Given the description of an element on the screen output the (x, y) to click on. 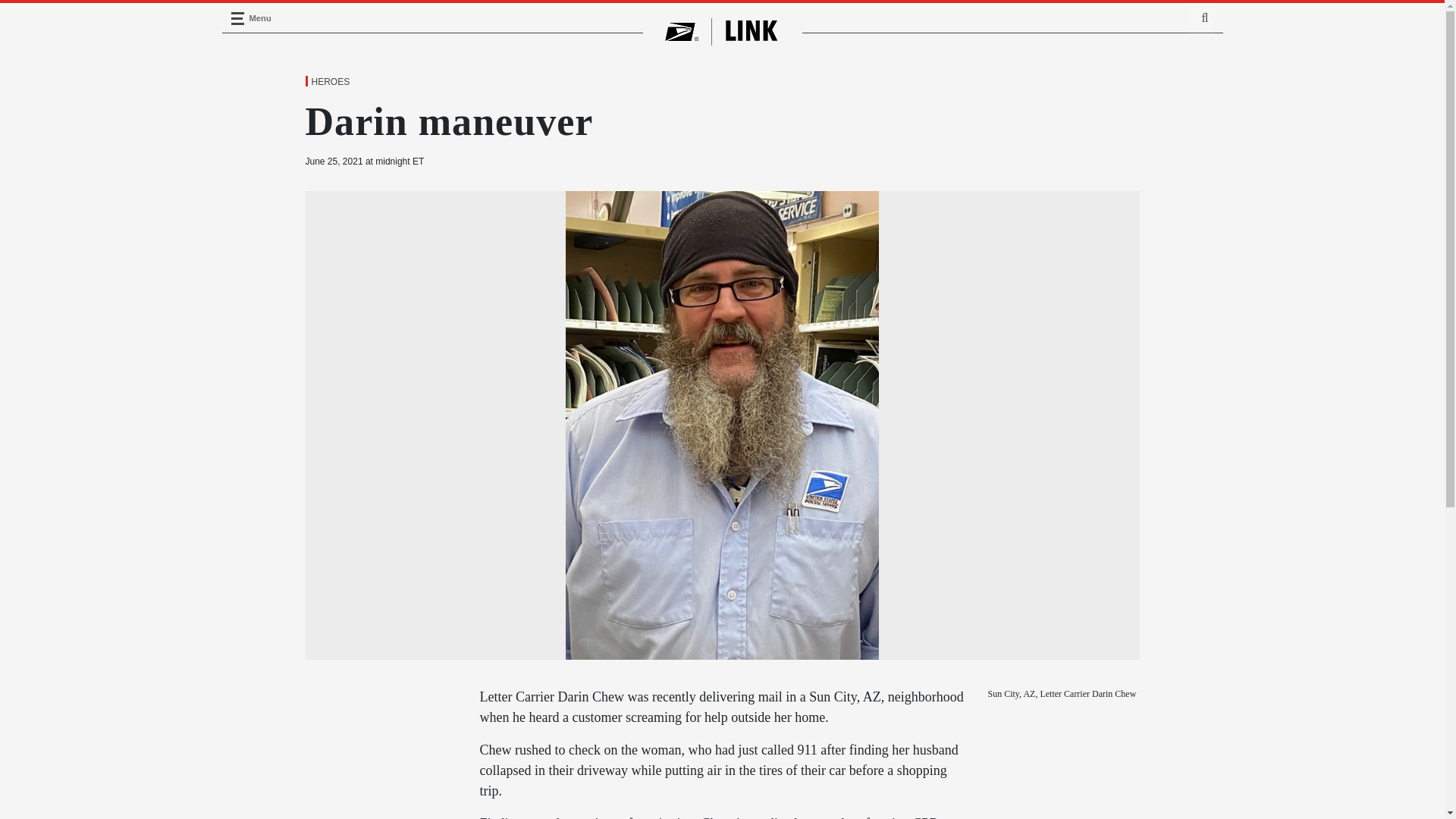
Menu (237, 18)
HEROES (329, 81)
